Given the description of an element on the screen output the (x, y) to click on. 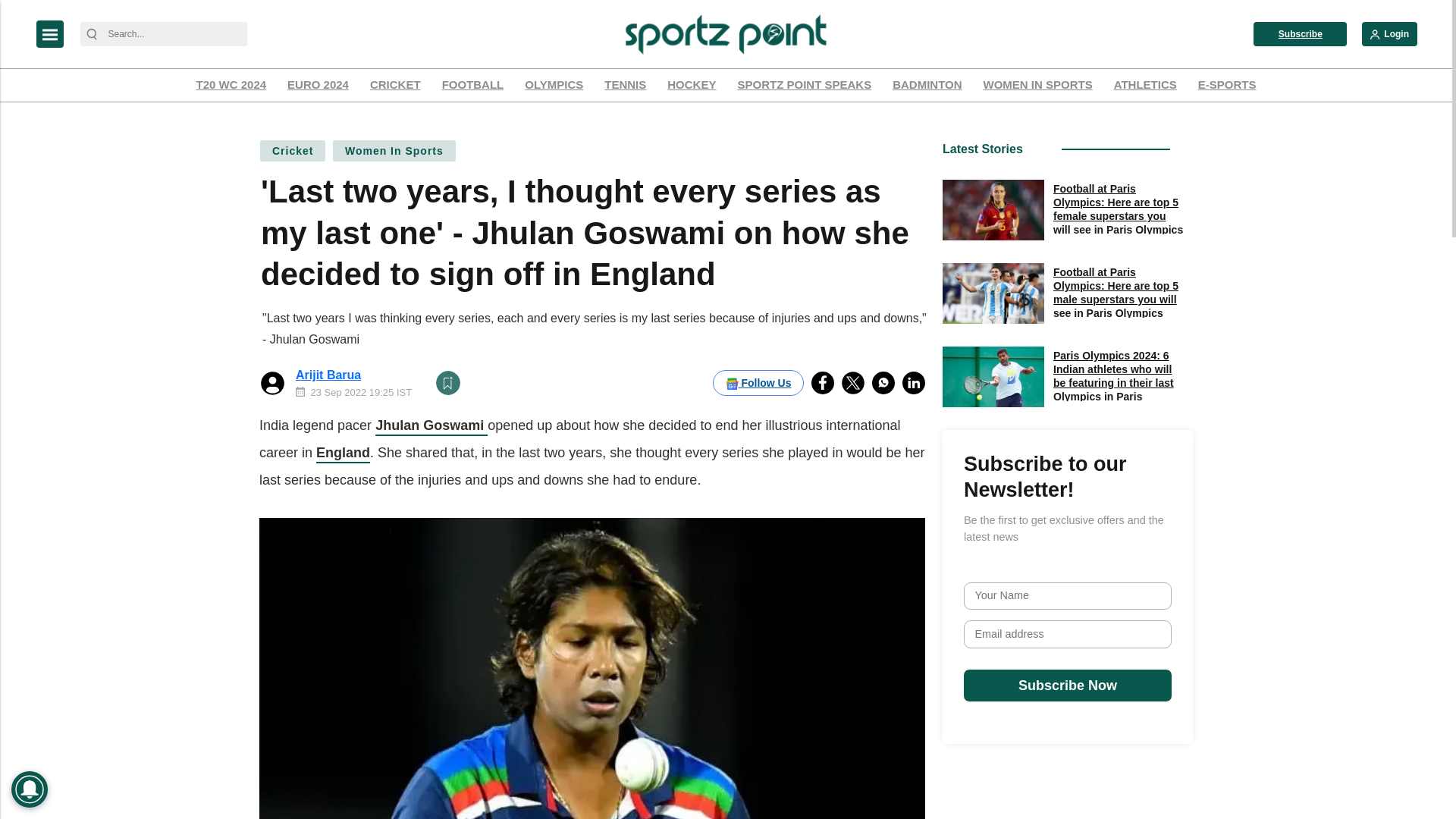
WOMEN IN SPORTS (1037, 84)
TENNIS (624, 84)
HOCKEY (691, 84)
Follow Us (758, 382)
E-SPORTS (1227, 84)
Women In Sports (394, 150)
Arijit Barua (328, 374)
ATHLETICS (1145, 84)
CRICKET (395, 84)
Login (1388, 33)
Cricket (292, 150)
Subscribe (1299, 33)
T20 WC 2024 (231, 84)
BADMINTON (926, 84)
OLYMPICS (553, 84)
